Given the description of an element on the screen output the (x, y) to click on. 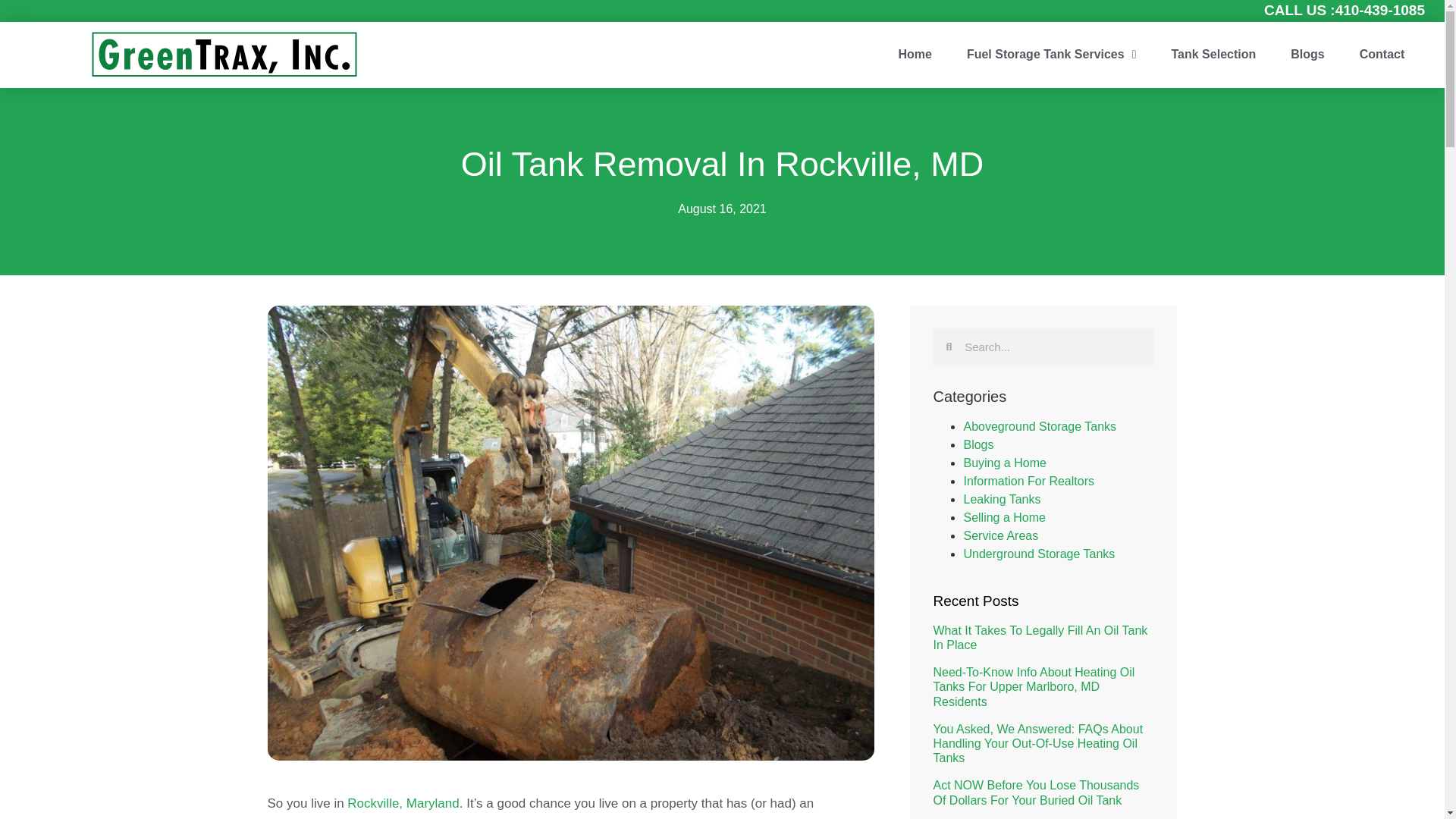
Buying a Home (1003, 462)
Tank Selection (1213, 54)
Blogs (1307, 54)
Fuel Storage Tank Services (1051, 54)
Aboveground Storage Tanks (1039, 426)
Rockville, Maryland (402, 803)
Home (914, 54)
underground storage tank (341, 817)
August 16, 2021 (722, 208)
410-439-1085 (1380, 10)
Contact (1382, 54)
Blogs (977, 444)
